Given the description of an element on the screen output the (x, y) to click on. 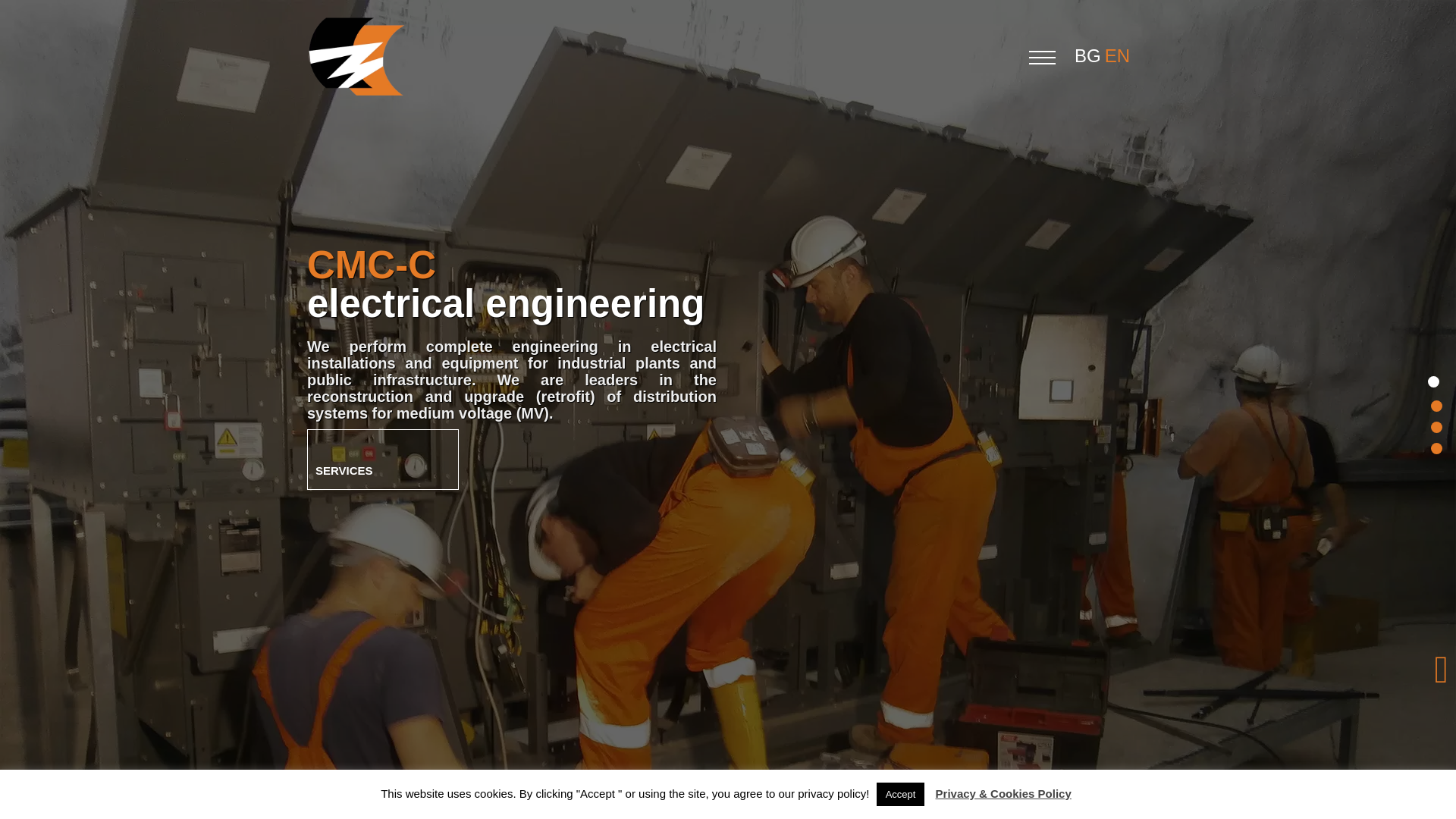
SERVICES (382, 459)
Services (382, 459)
About us (1432, 402)
English (1119, 55)
Career (1432, 444)
Products (1432, 423)
Home (1432, 380)
Accept (900, 793)
